Given the description of an element on the screen output the (x, y) to click on. 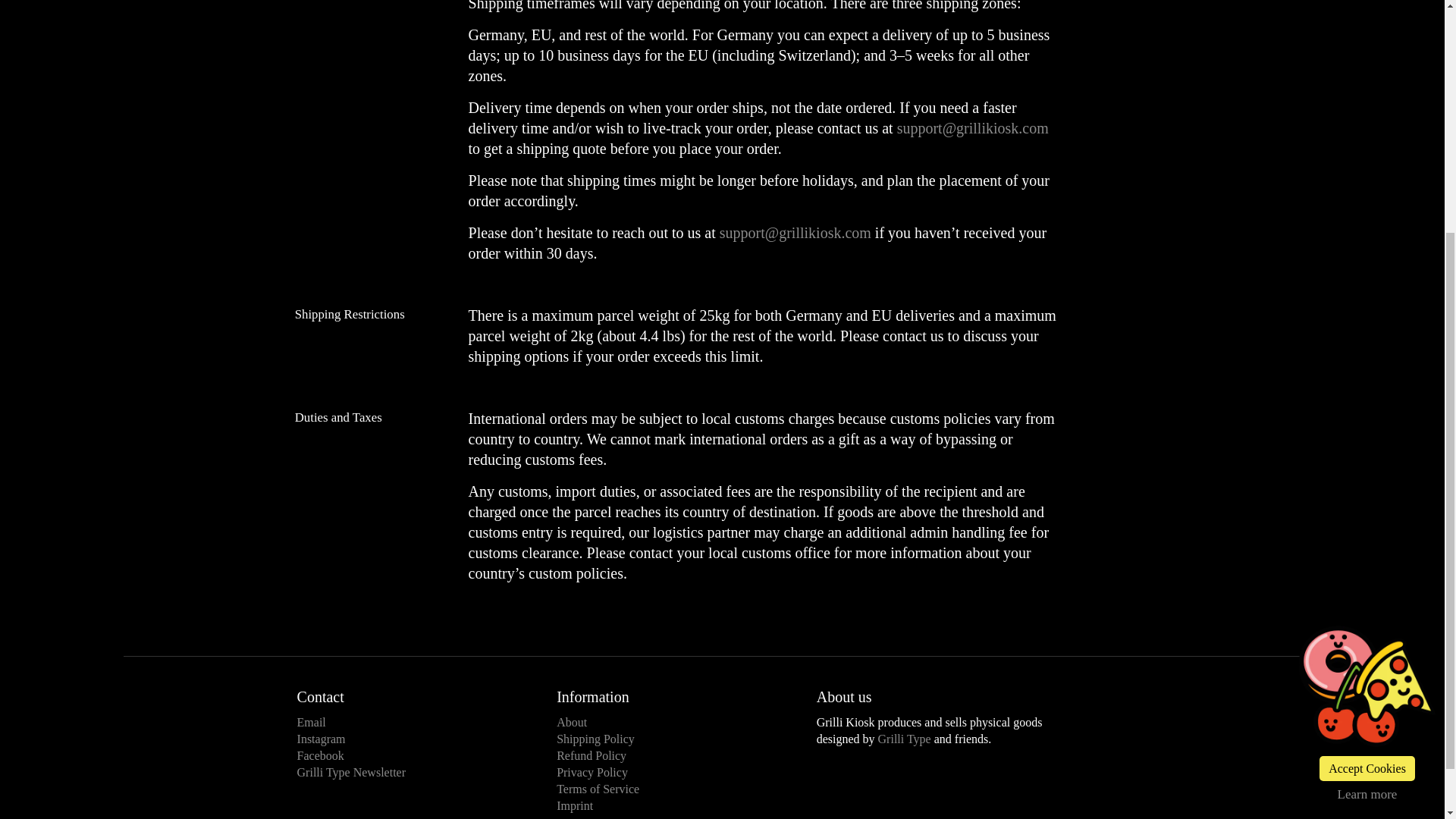
Refund Policy (591, 755)
Privacy Policy (591, 771)
Grilli Type (904, 738)
Imprint (574, 805)
About (571, 721)
Terms of Service (597, 788)
Email (311, 721)
Instagram (321, 738)
Grilli Type Newsletter (351, 771)
Shipping Policy (595, 738)
Facebook (320, 755)
